Given the description of an element on the screen output the (x, y) to click on. 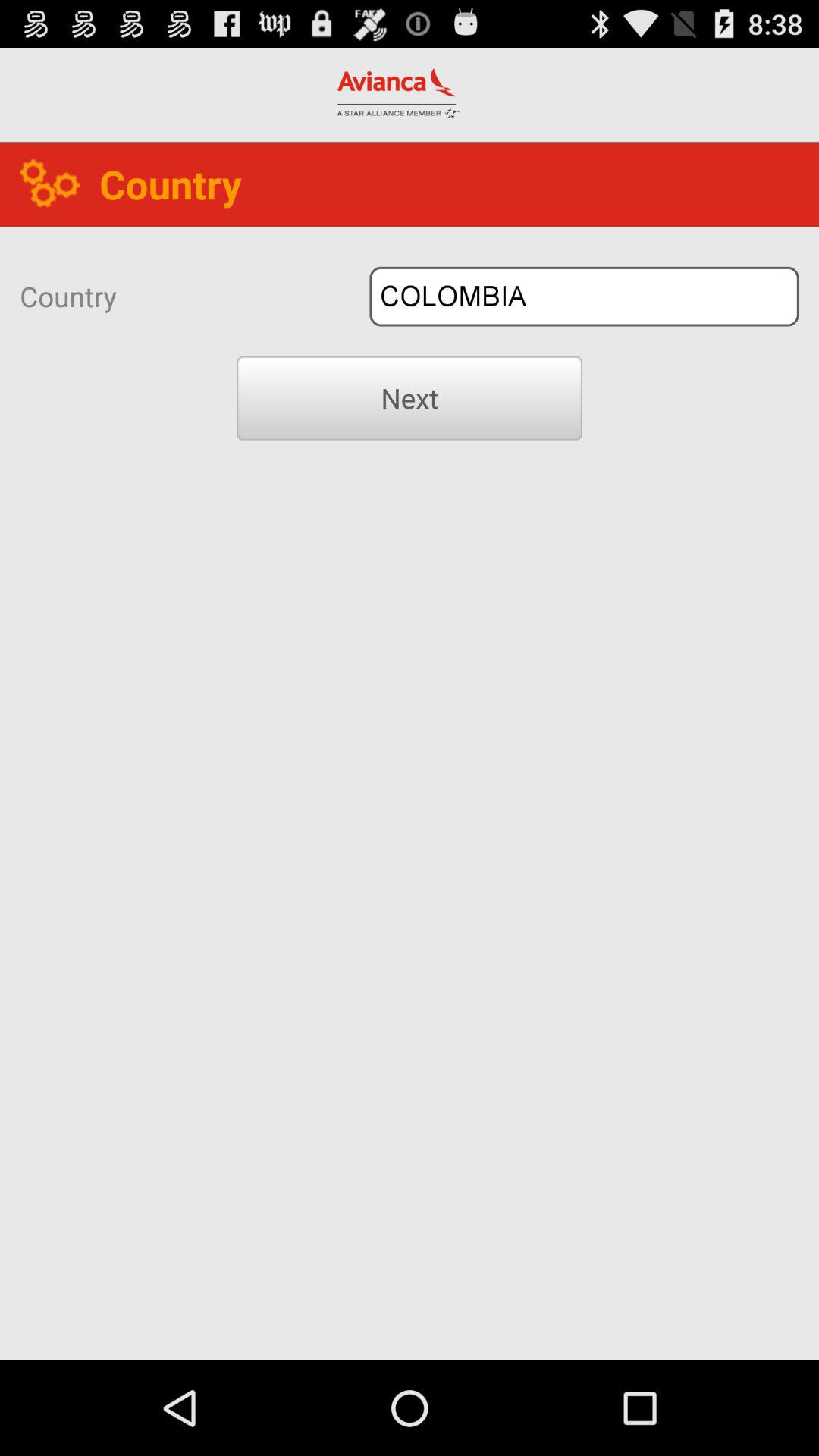
select colombia button (584, 296)
